Given the description of an element on the screen output the (x, y) to click on. 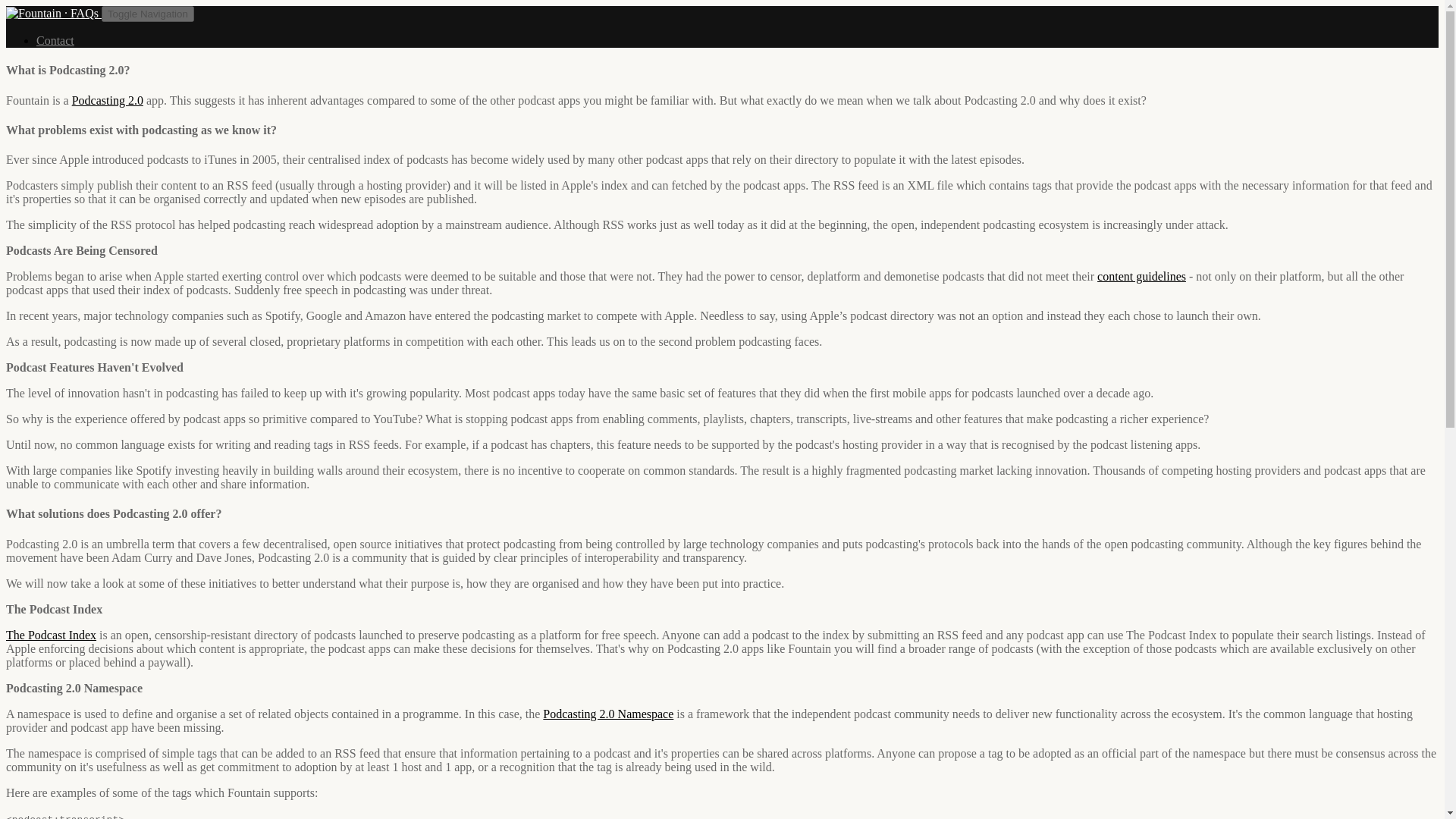
Contact (55, 40)
Toggle Navigation (147, 13)
Podcasting 2.0 (106, 100)
content guidelines (1141, 276)
The Podcast Index (50, 634)
Podcasting 2.0 Namespace (607, 713)
